Given the description of an element on the screen output the (x, y) to click on. 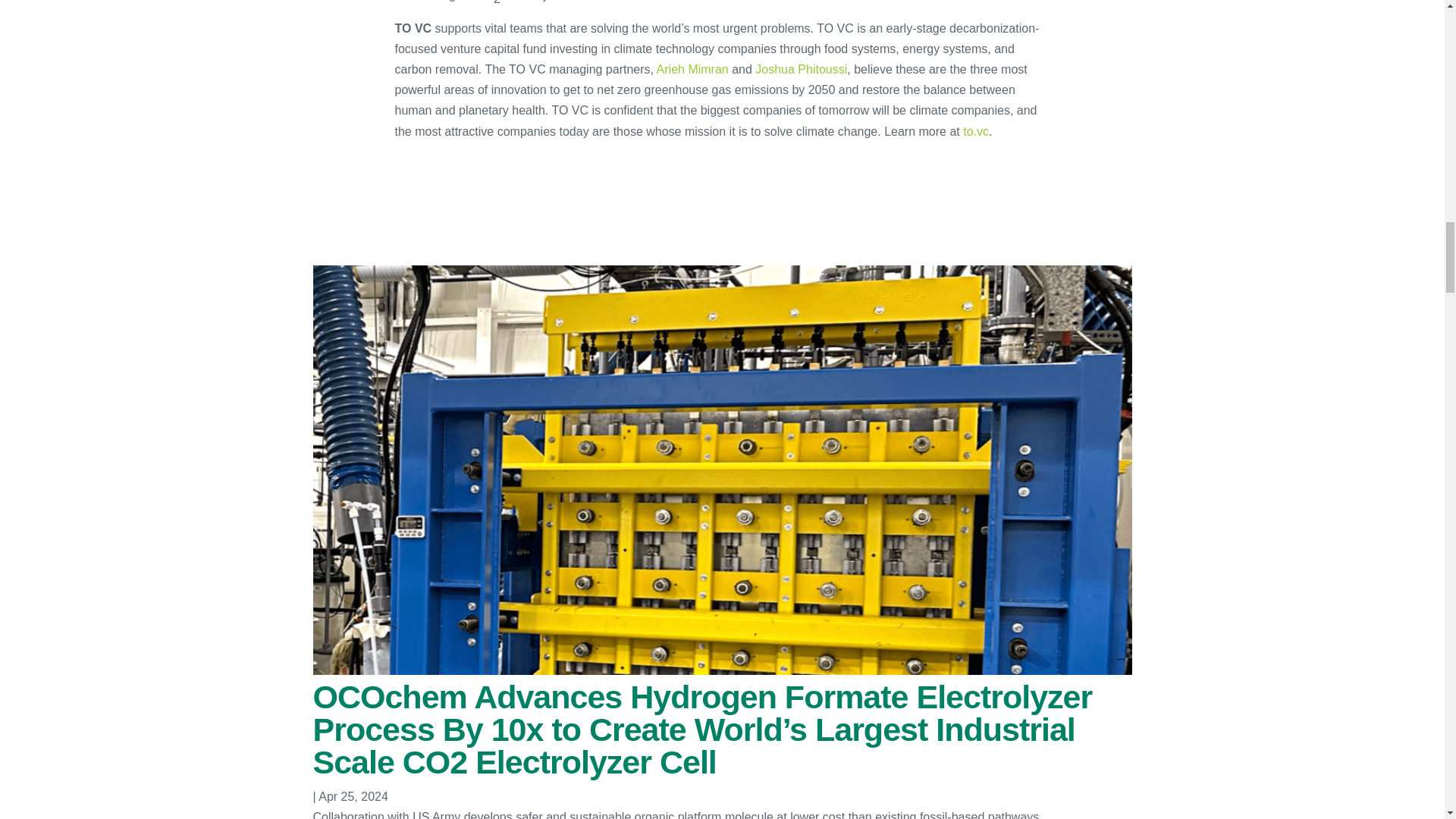
www.ocochem.com (702, 0)
Arieh Mimran (692, 69)
to.vc (975, 131)
Joshua Phitoussi (801, 69)
